Given the description of an element on the screen output the (x, y) to click on. 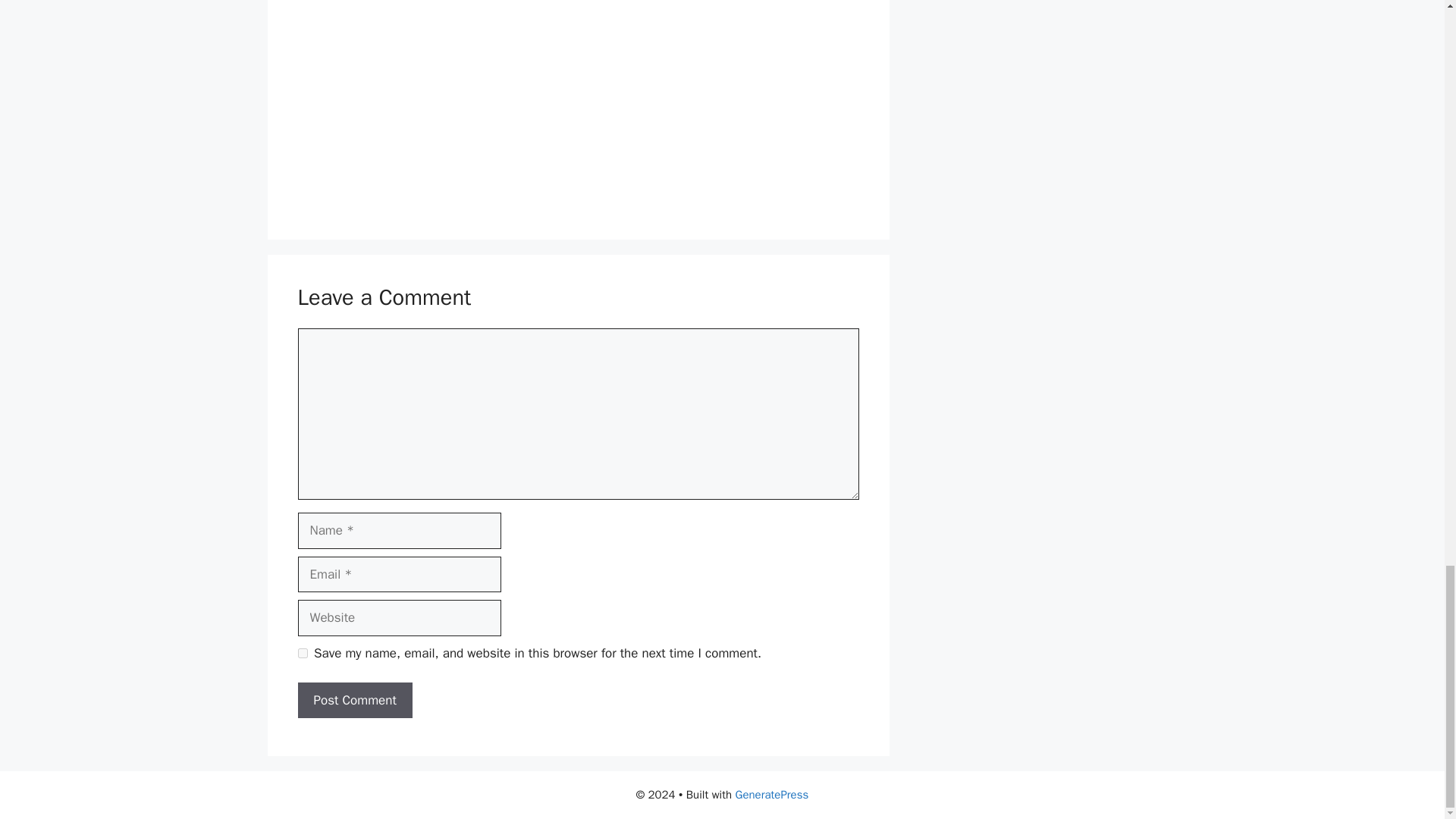
GeneratePress (772, 794)
Post Comment (354, 700)
Post Comment (354, 700)
yes (302, 653)
